Given the description of an element on the screen output the (x, y) to click on. 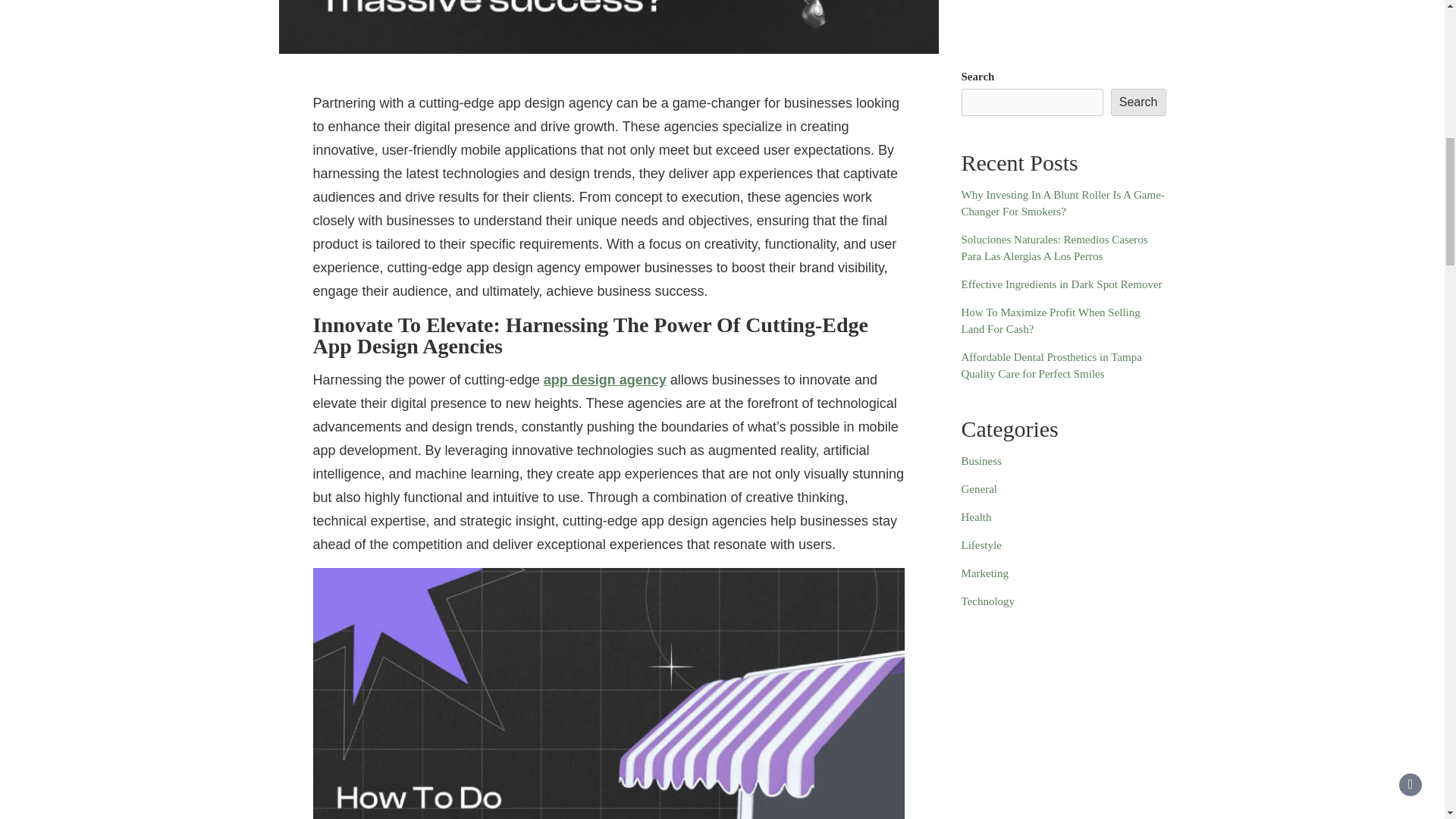
app design agency (604, 379)
